Given the description of an element on the screen output the (x, y) to click on. 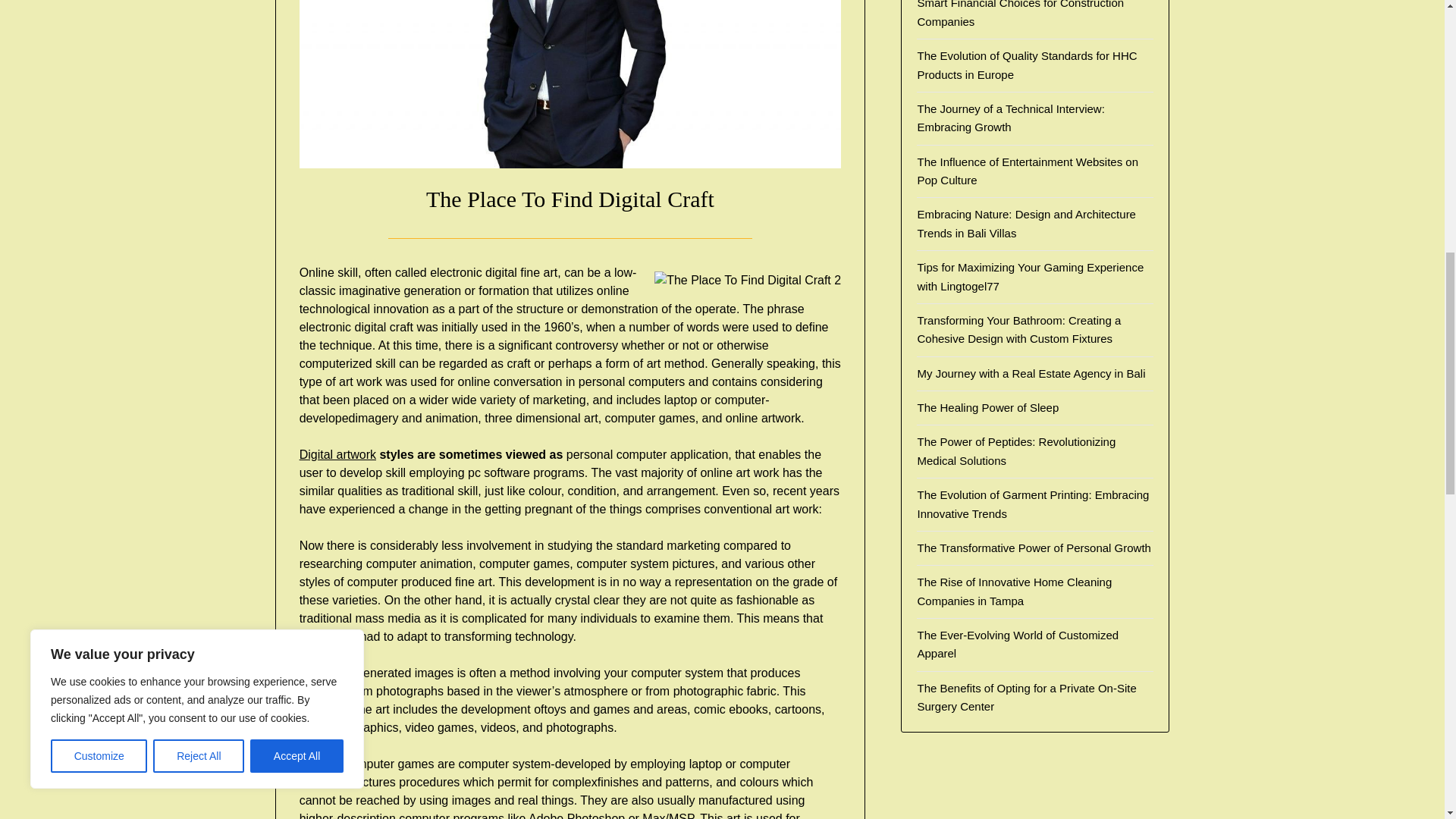
Tips for Maximizing Your Gaming Experience with Lingtogel77 (1029, 276)
The Influence of Entertainment Websites on Pop Culture (1027, 170)
My Journey with a Real Estate Agency in Bali (1030, 373)
The Healing Power of Sleep (987, 407)
Digital artwork (337, 454)
Smart Financial Choices for Construction Companies (1020, 13)
The Journey of a Technical Interview: Embracing Growth (1010, 117)
